Given the description of an element on the screen output the (x, y) to click on. 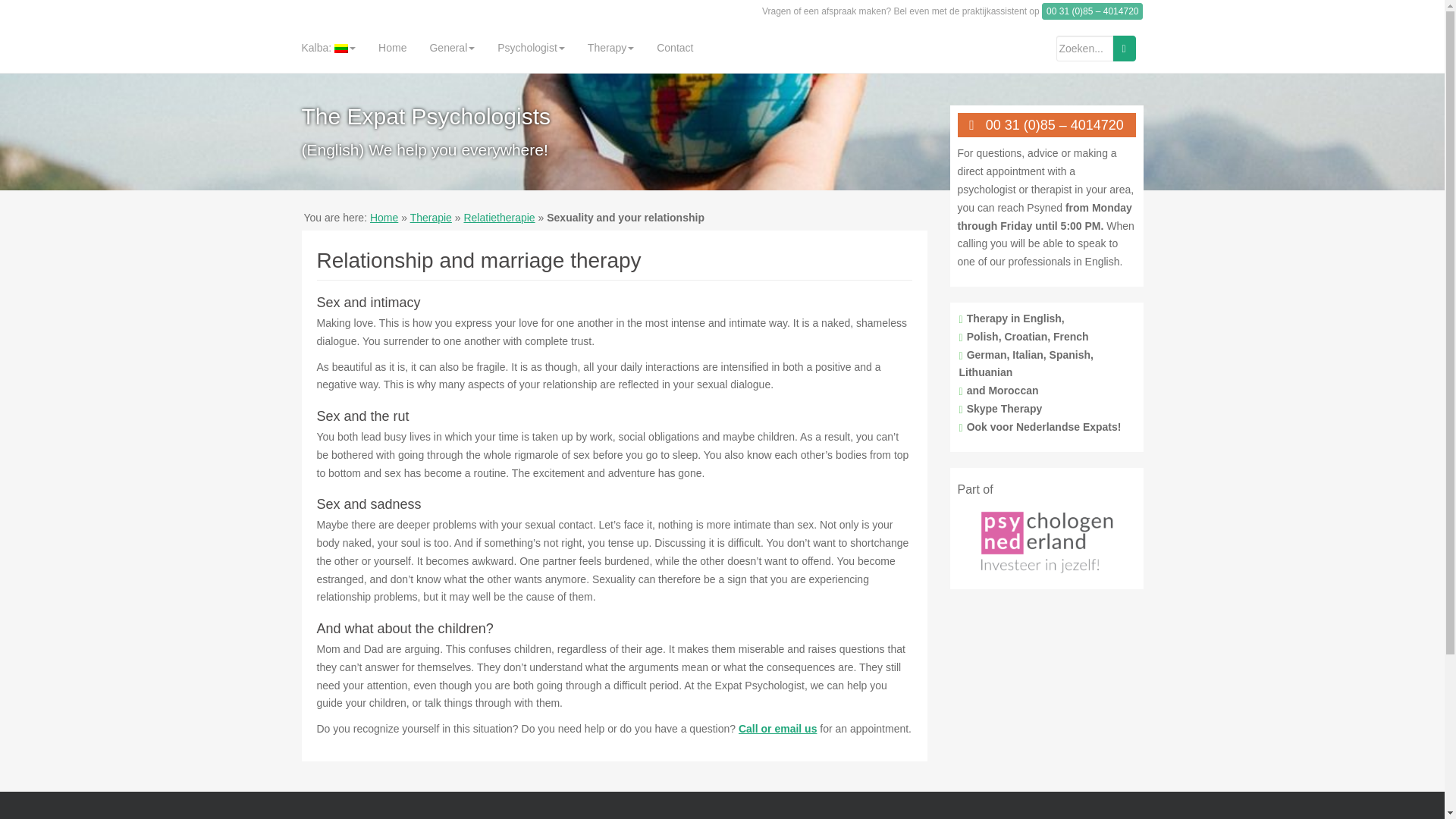
Therapy (610, 47)
General (451, 47)
Home (391, 47)
Kalba:  (327, 47)
Psychologist (531, 47)
